Given the description of an element on the screen output the (x, y) to click on. 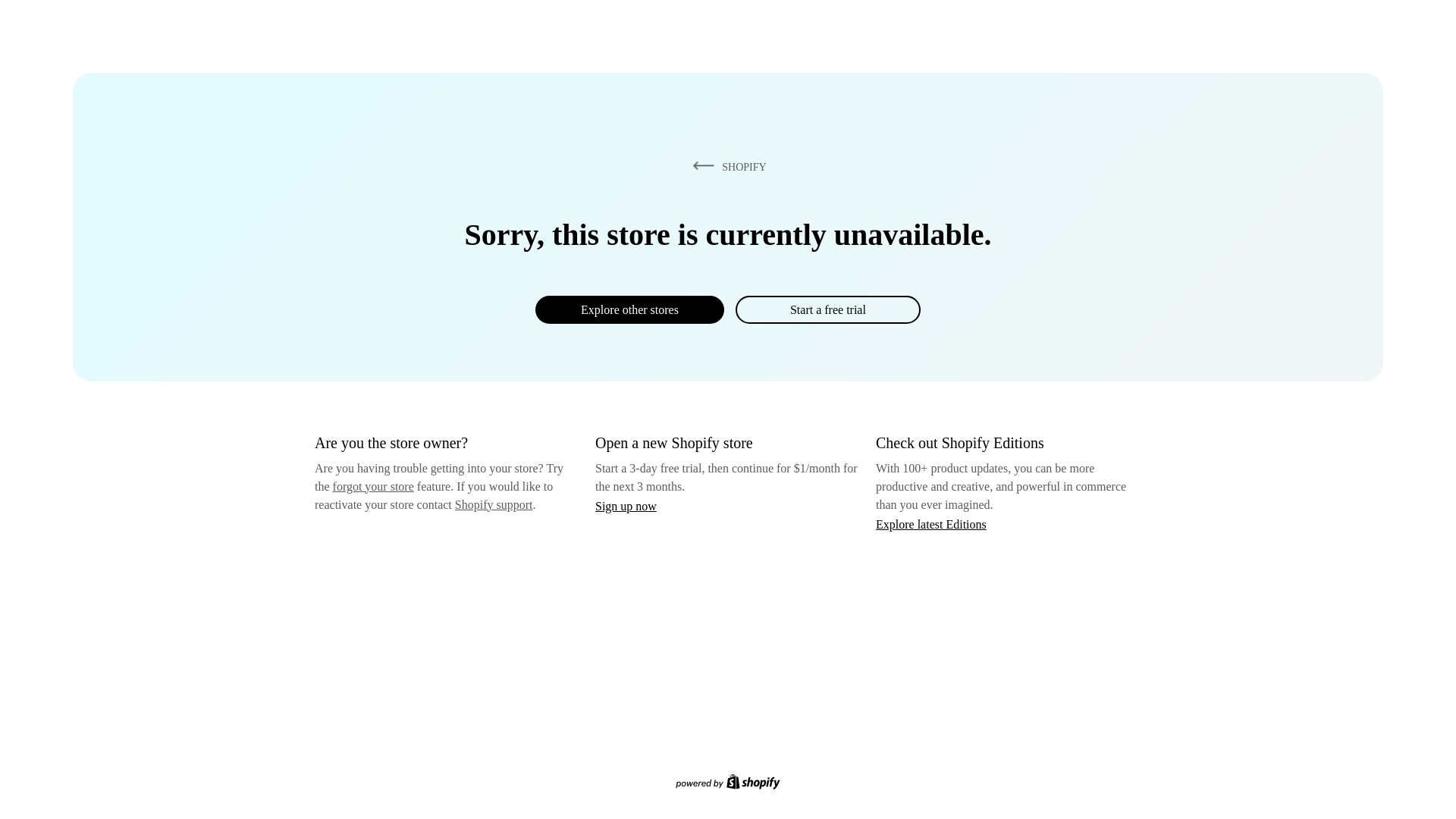
Start a free trial (827, 309)
forgot your store (373, 486)
Sign up now (625, 505)
Shopify support (493, 504)
SHOPIFY (726, 166)
Explore latest Editions (931, 523)
Explore other stores (629, 309)
